Given the description of an element on the screen output the (x, y) to click on. 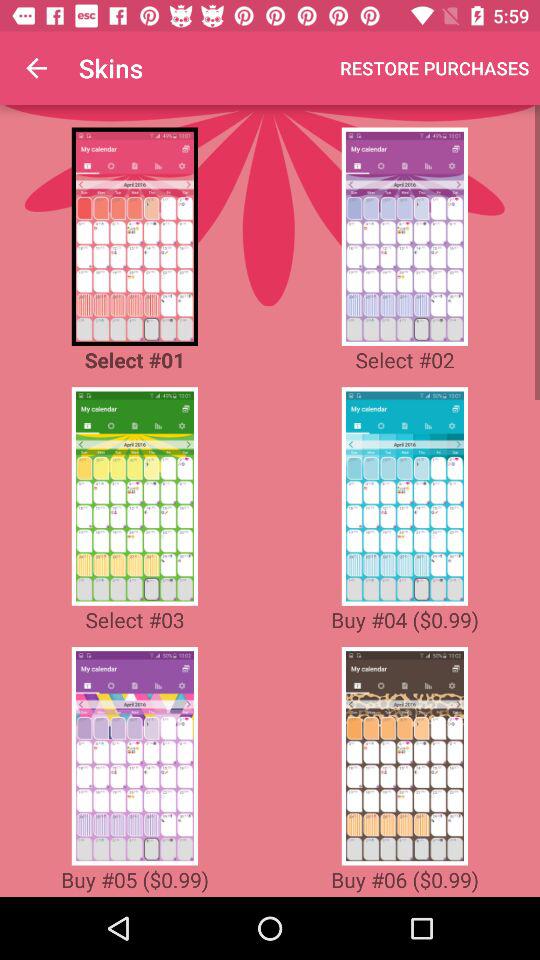
select calendar layout (134, 496)
